Given the description of an element on the screen output the (x, y) to click on. 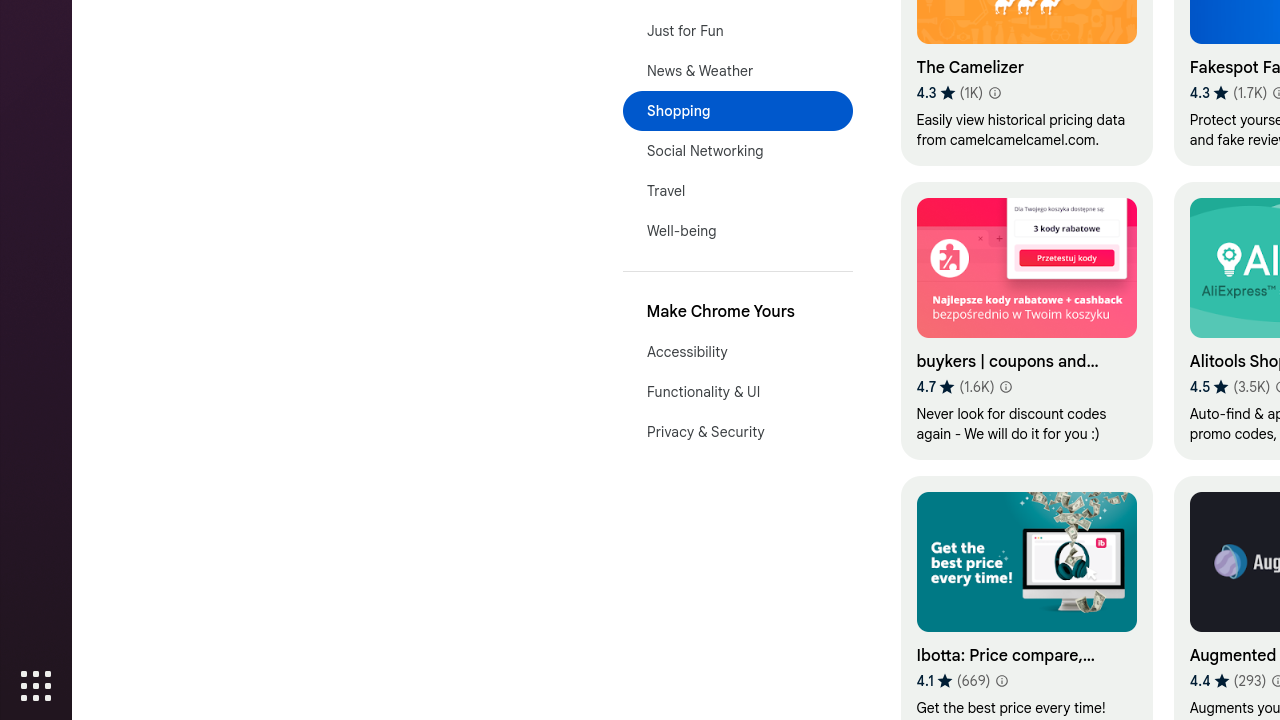
Learn more about results and reviews "Ibotta: Price compare, cashback, item alerts" Element type: push-button (1002, 681)
Well-being Element type: menu-item (737, 231)
Shopping (selected) Element type: menu-item (737, 111)
Functionality & UI Element type: menu-item (737, 392)
buykers | coupons and discount codes Element type: link (1026, 320)
